Given the description of an element on the screen output the (x, y) to click on. 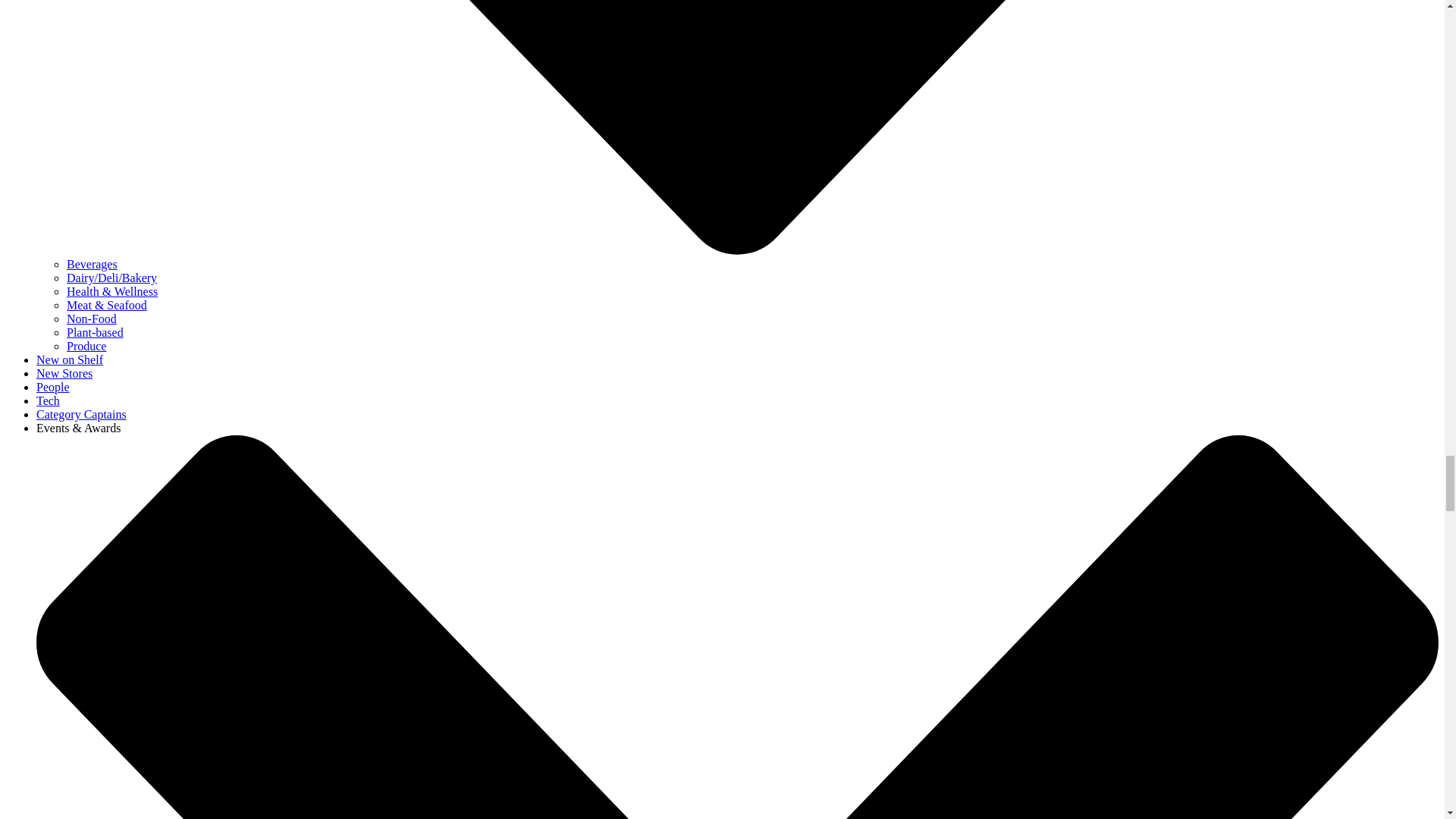
Non-Food (91, 318)
People (52, 386)
Beverages (91, 264)
New on Shelf (69, 359)
New Stores (64, 373)
Tech (47, 400)
Category Captains (81, 413)
Plant-based (94, 332)
Produce (86, 345)
